Given the description of an element on the screen output the (x, y) to click on. 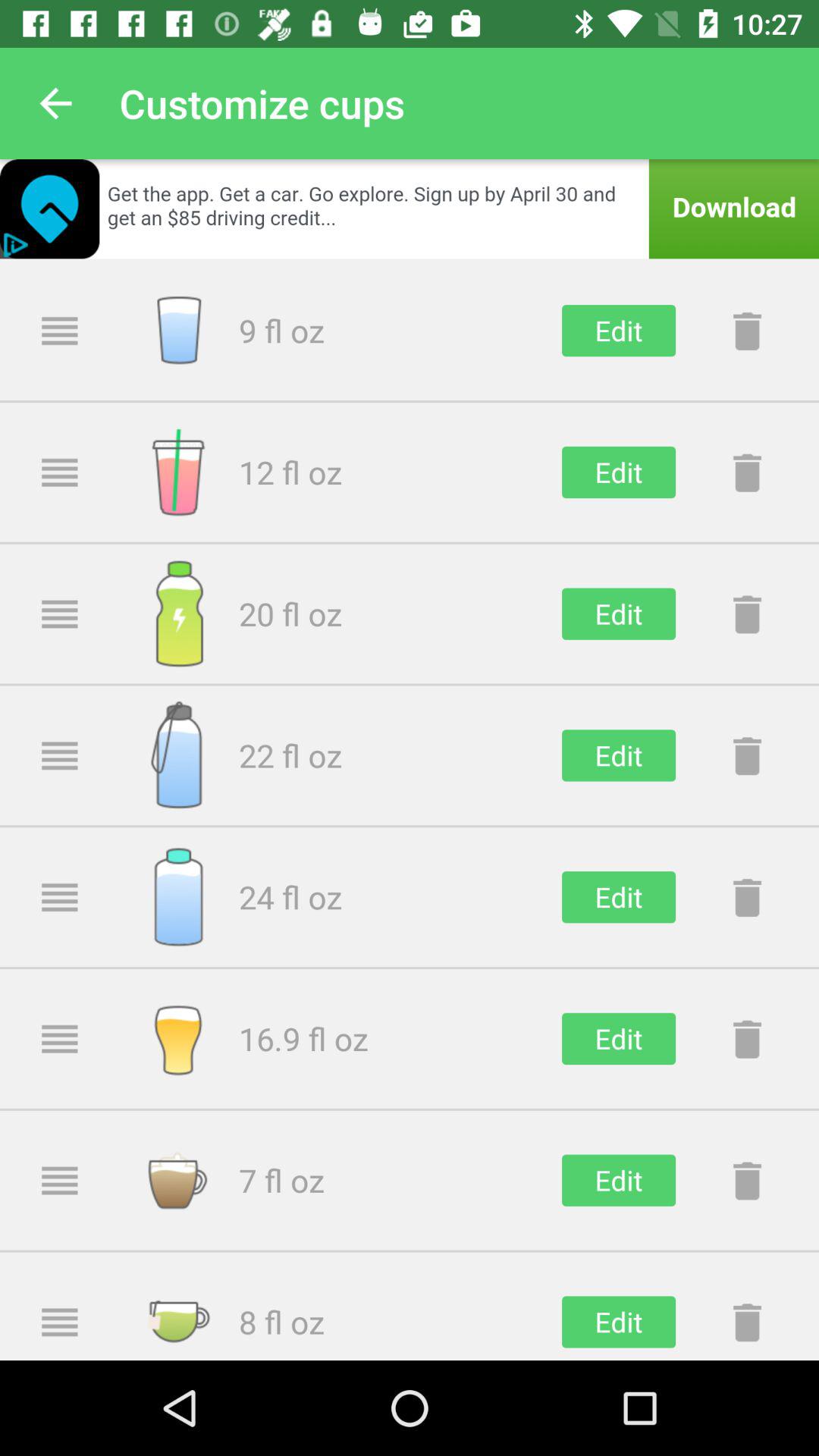
delete this row (747, 897)
